Given the description of an element on the screen output the (x, y) to click on. 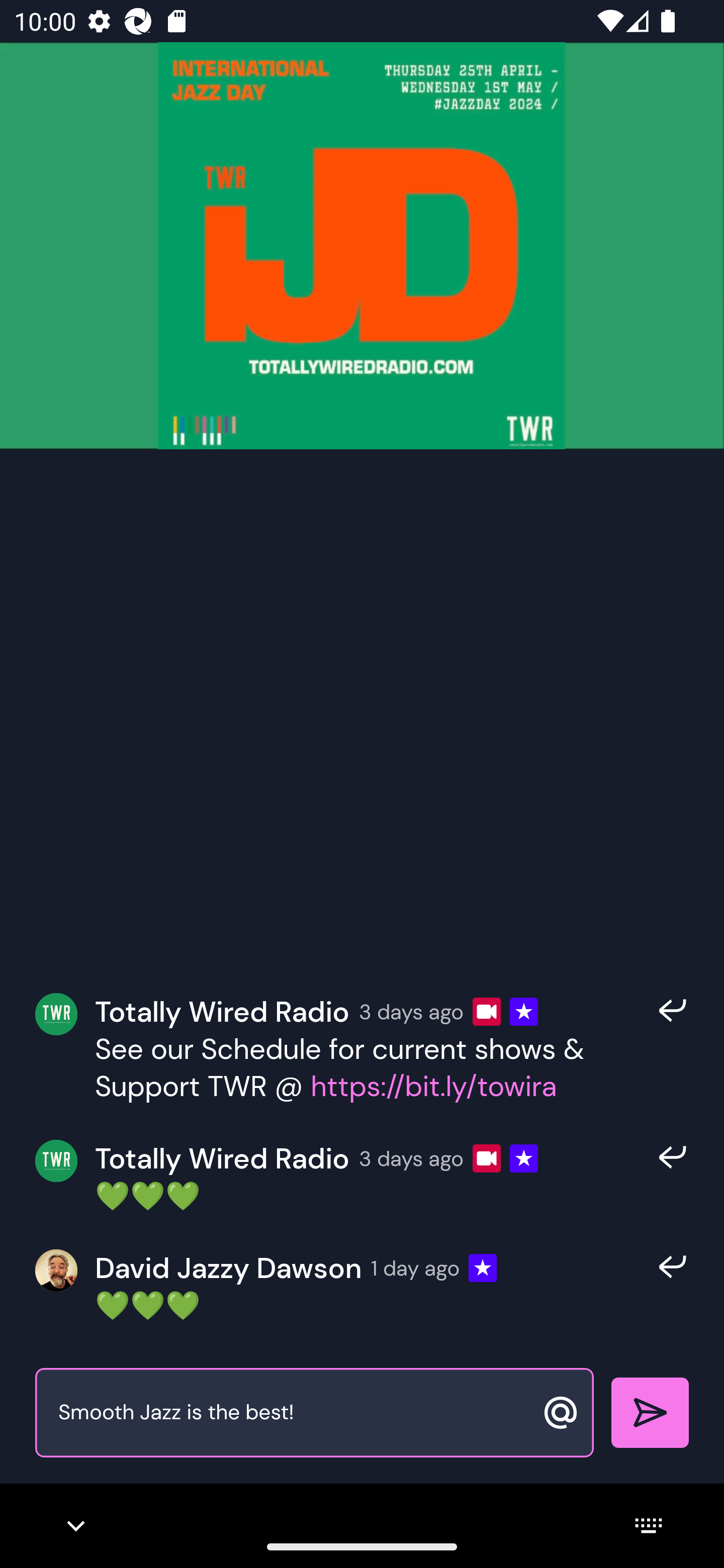
Totally Wired Radio (221, 1011)
Totally Wired Radio (221, 1158)
David Jazzy Dawson (228, 1268)
Smooth Jazz is the best! (292, 1413)
